Given the description of an element on the screen output the (x, y) to click on. 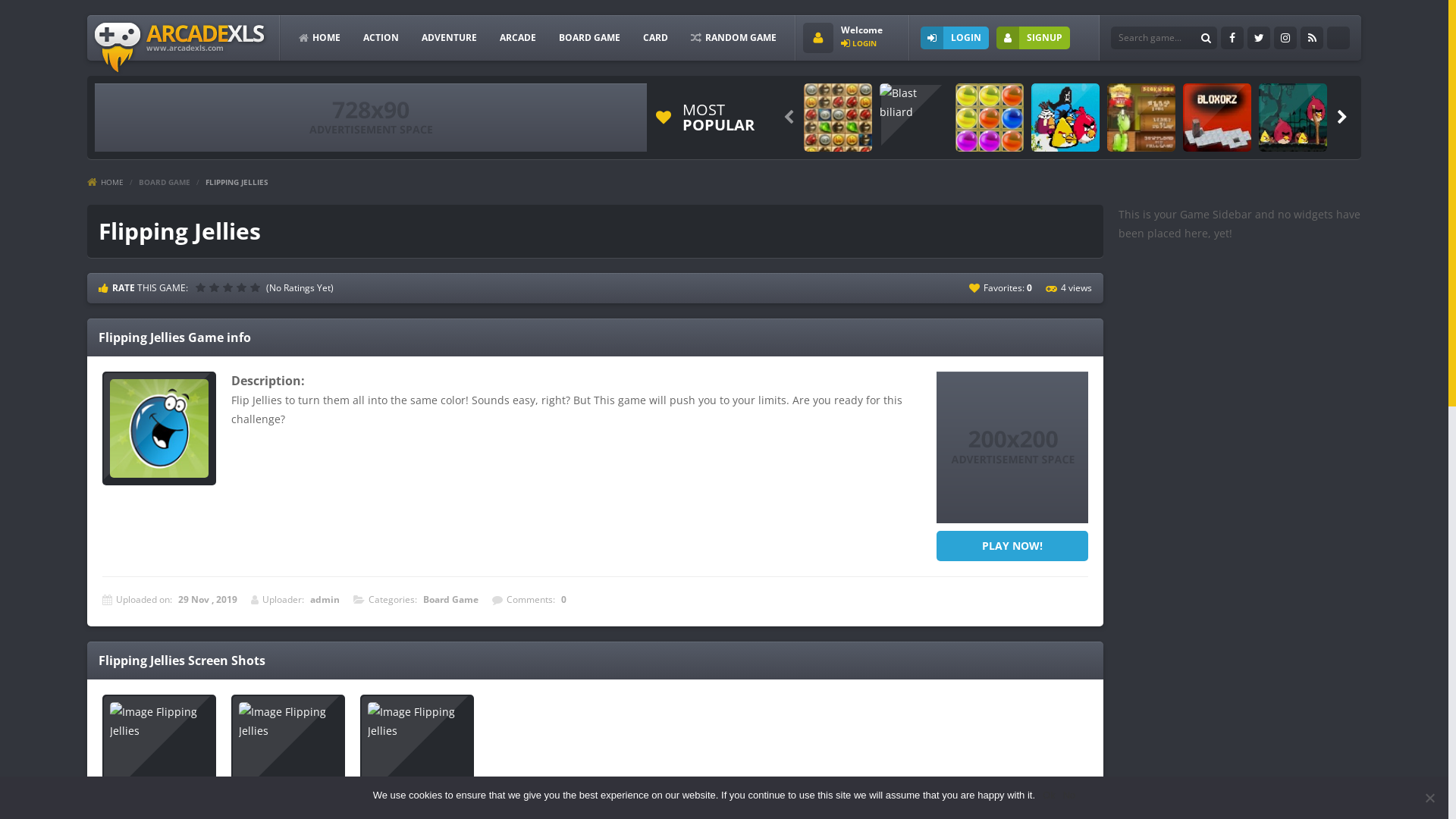
2 Stars Element type: hover (215, 286)
admin Element type: text (324, 599)
Feed Element type: text (1311, 37)
Search Element type: text (1205, 37)
BOARD GAME Element type: text (164, 181)
No Element type: text (1069, 795)
LOGIN Element type: text (954, 37)
Twitter Element type: text (1258, 37)
RANDOM GAME Element type: text (733, 37)
ARCADE Element type: text (517, 37)
ACTION Element type: text (380, 37)
Board Game Element type: text (450, 599)
5 Stars Element type: hover (256, 286)
4 Stars Element type: hover (243, 286)
ADVENTURE Element type: text (449, 37)
Feed Element type: text (1338, 37)
Facebook Element type: text (1231, 37)
Instagram Element type: text (1285, 37)
No Element type: hover (1429, 797)
CARD Element type: text (655, 37)
3 Stars Element type: hover (229, 286)
1 Star Element type: hover (202, 286)
LOGIN Element type: text (858, 42)
Ok Element type: text (1048, 795)
HOME Element type: text (319, 37)
PLAY NOW! Element type: text (1012, 545)
HOME Element type: text (105, 181)
BOARD GAME Element type: text (589, 37)
SIGNUP Element type: text (1033, 37)
Crazy games unblocked HTML5 Element type: hover (179, 46)
